Given the description of an element on the screen output the (x, y) to click on. 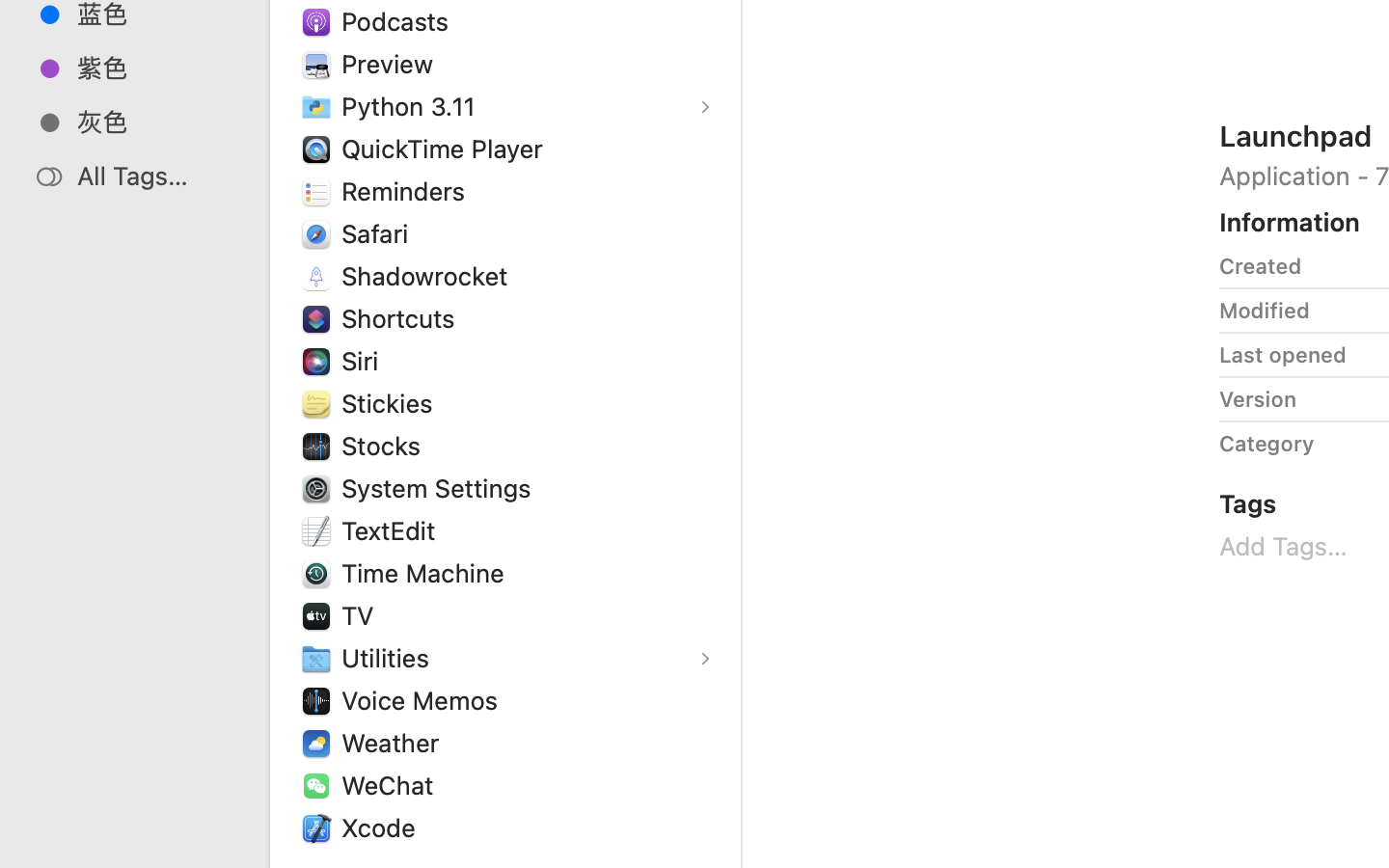
Shadowrocket Element type: AXTextField (428, 275)
Time Machine Element type: AXTextField (427, 572)
TextEdit Element type: AXTextField (392, 530)
TV Element type: AXTextField (361, 614)
紫色 Element type: AXStaticText (155, 67)
